Given the description of an element on the screen output the (x, y) to click on. 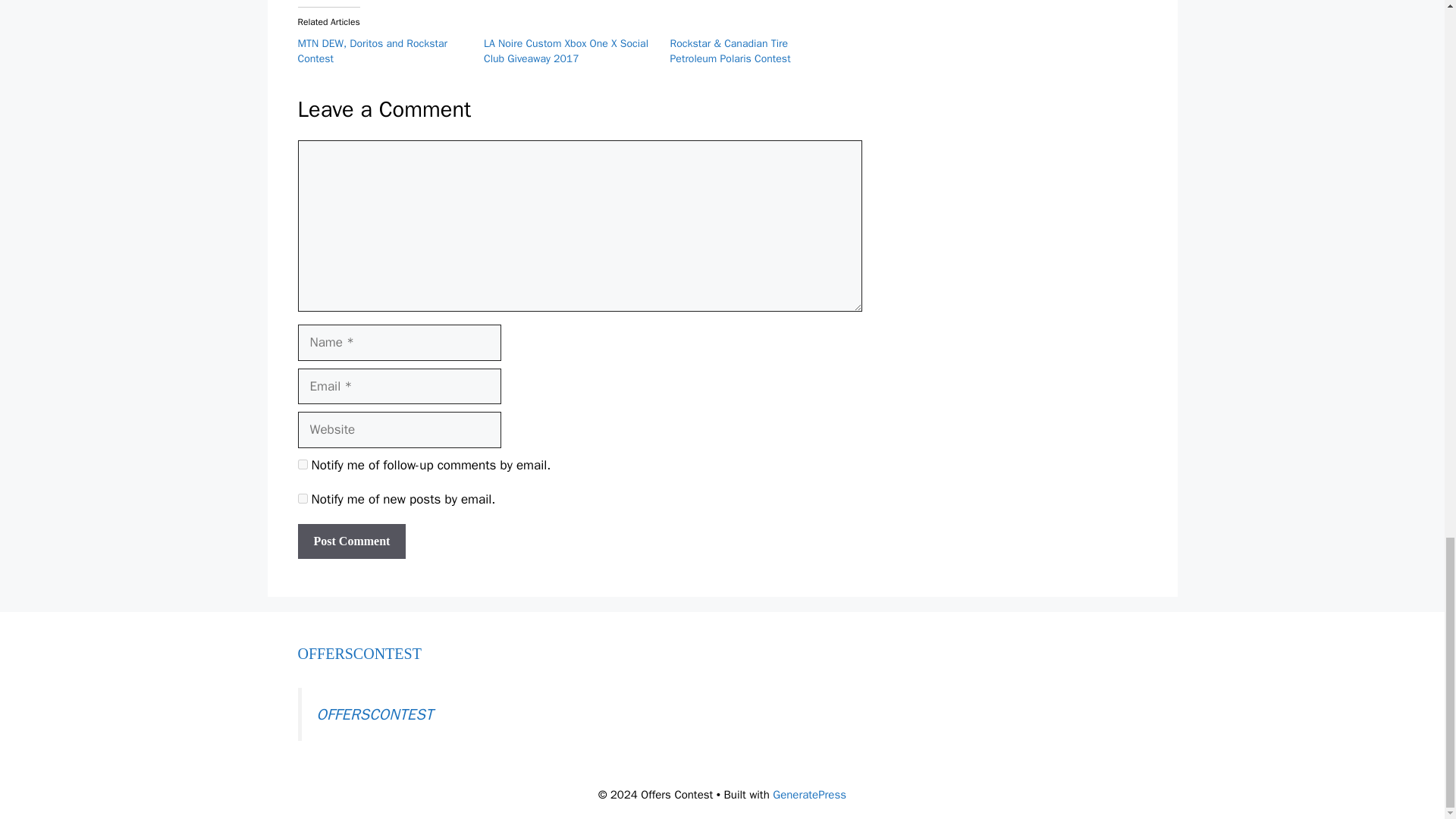
MTN DEW, Doritos and Rockstar Contest (371, 50)
OFFERSCONTEST (375, 713)
OFFERSCONTEST (358, 653)
LA Noire Custom Xbox One X Social Club Giveaway 2017 (565, 50)
GeneratePress (809, 794)
Post Comment (351, 541)
subscribe (302, 498)
MTN DEW, Doritos and Rockstar Contest (371, 50)
subscribe (302, 464)
LA Noire Custom Xbox One X Social Club Giveaway 2017 (565, 50)
Post Comment (351, 541)
